Given the description of an element on the screen output the (x, y) to click on. 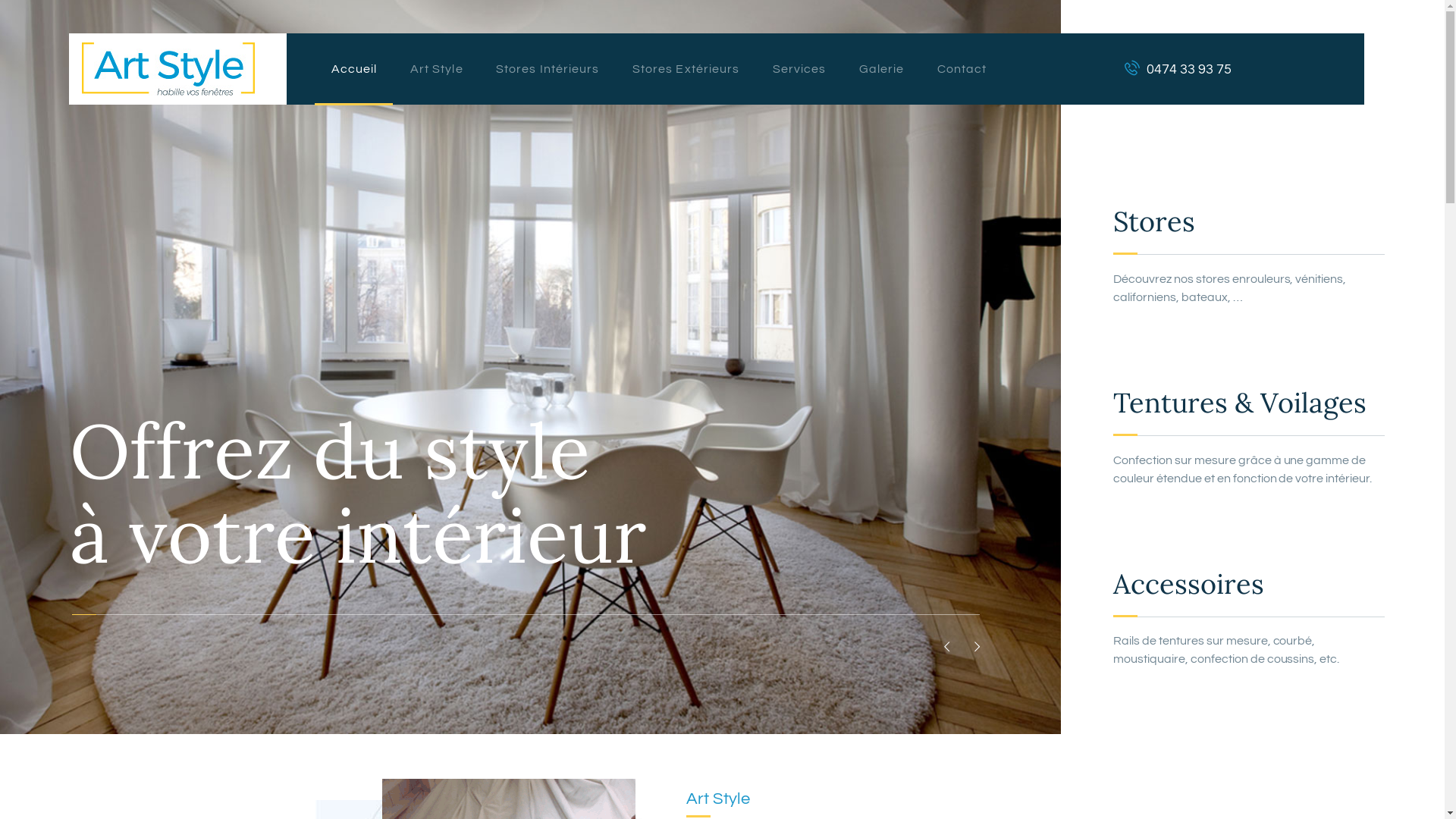
Accueil Element type: text (353, 68)
Stores Element type: text (1248, 221)
Art Style Element type: text (436, 68)
0474 33 93 75 Element type: text (1177, 68)
Accessoires Element type: text (1248, 584)
Contact Element type: text (961, 68)
Services Element type: text (799, 68)
Tentures & Voilages Element type: text (1248, 403)
Galerie Element type: text (881, 68)
